Given the description of an element on the screen output the (x, y) to click on. 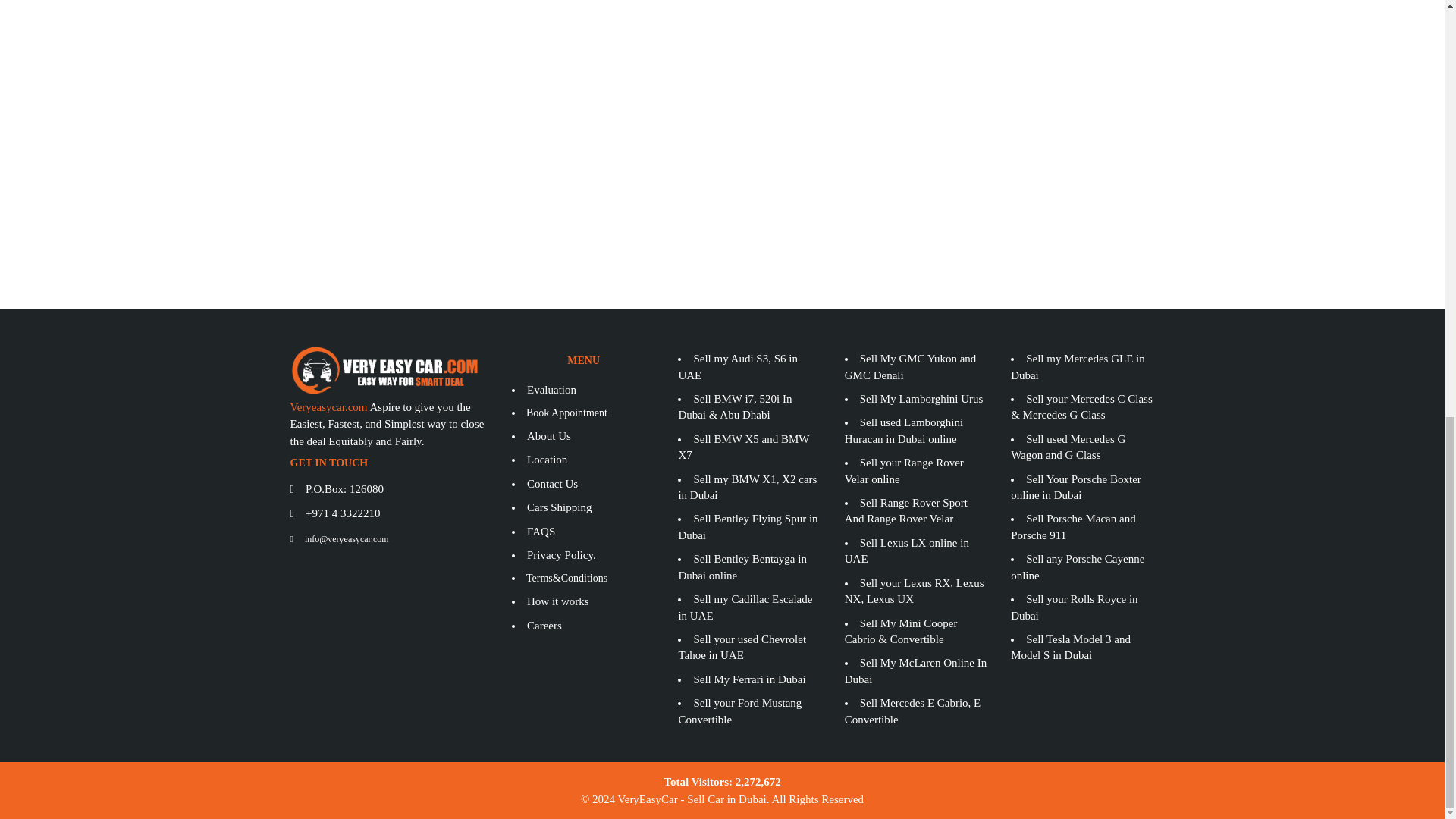
Sell my car online - Get car value (721, 59)
